Given the description of an element on the screen output the (x, y) to click on. 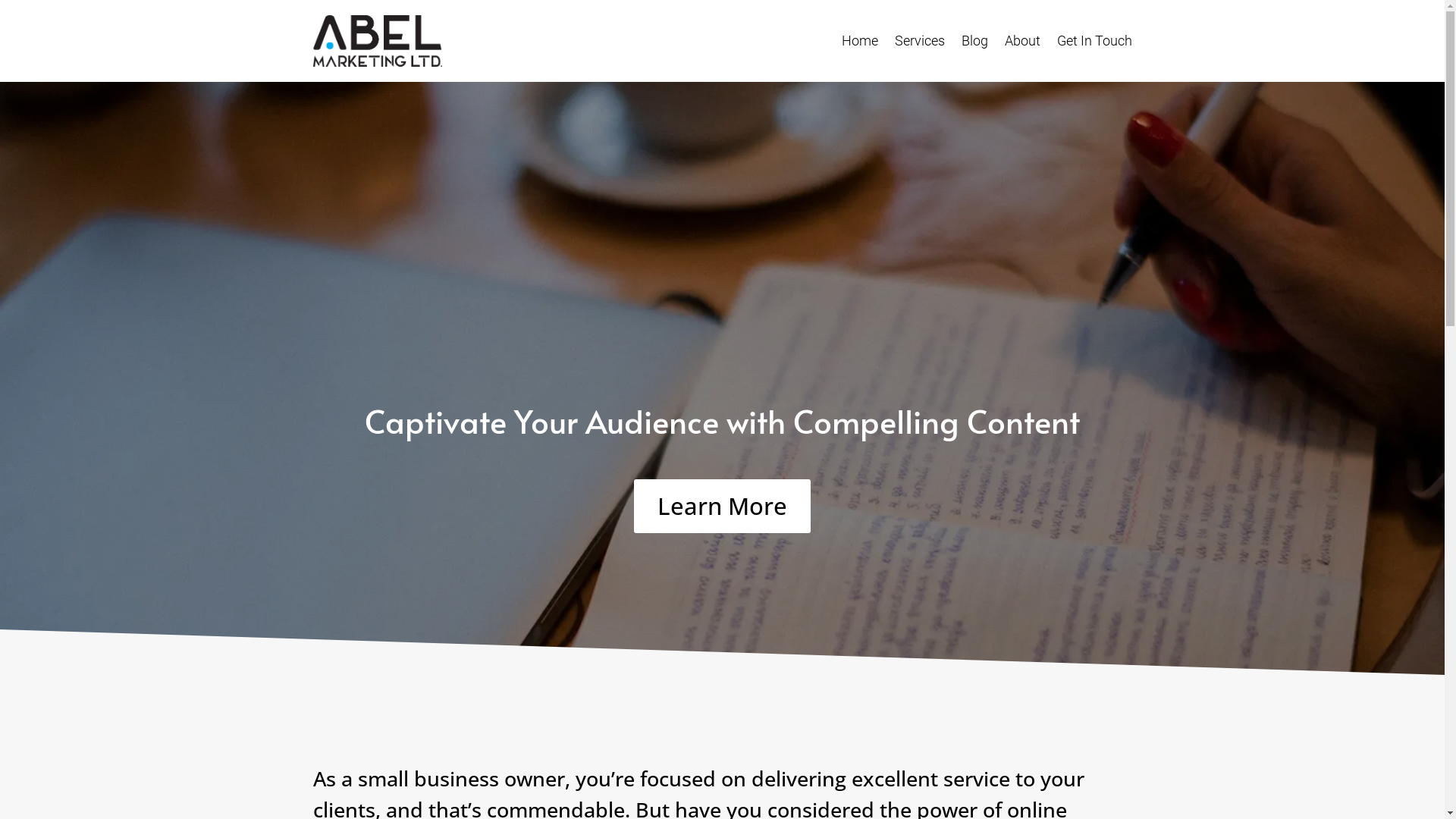
Blog Element type: text (974, 40)
Home Element type: text (859, 40)
Learn More Element type: text (721, 506)
About Element type: text (1021, 40)
Services Element type: text (919, 40)
Get In Touch Element type: text (1094, 40)
